Given the description of an element on the screen output the (x, y) to click on. 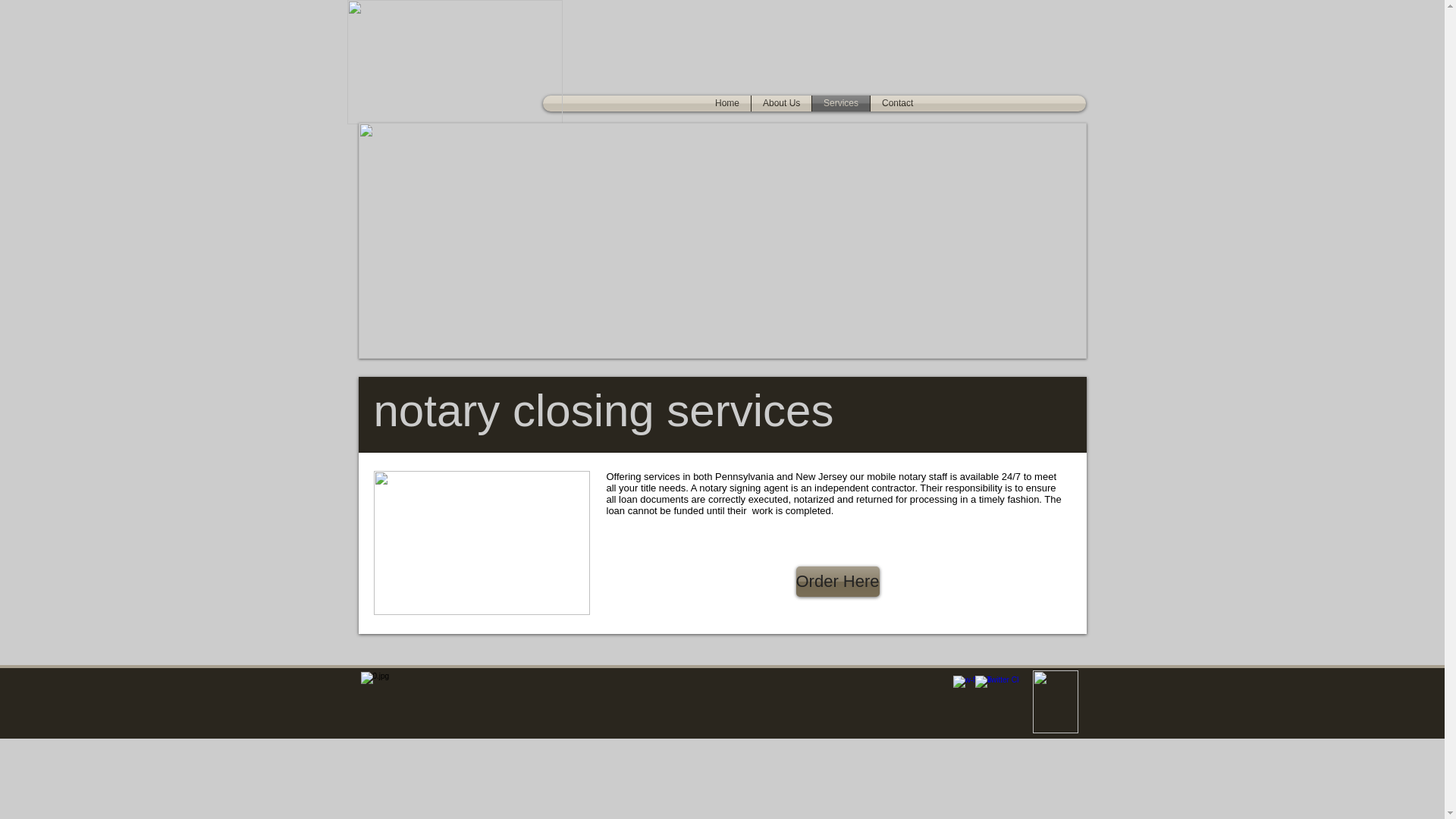
Services (840, 103)
About Us (780, 103)
Contact (897, 103)
Order Here (837, 581)
Home (727, 103)
